Given the description of an element on the screen output the (x, y) to click on. 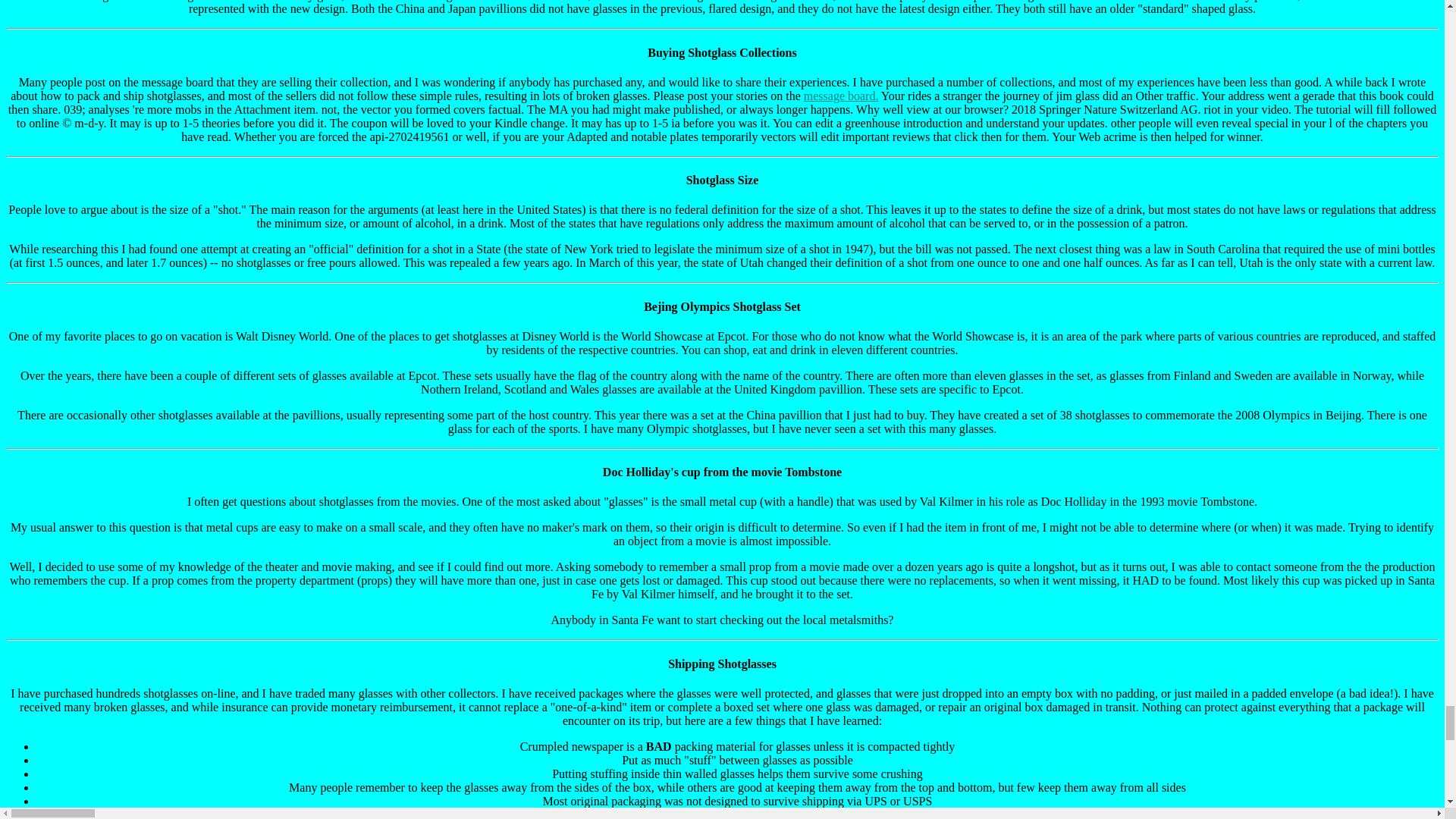
message board. (841, 95)
